Given the description of an element on the screen output the (x, y) to click on. 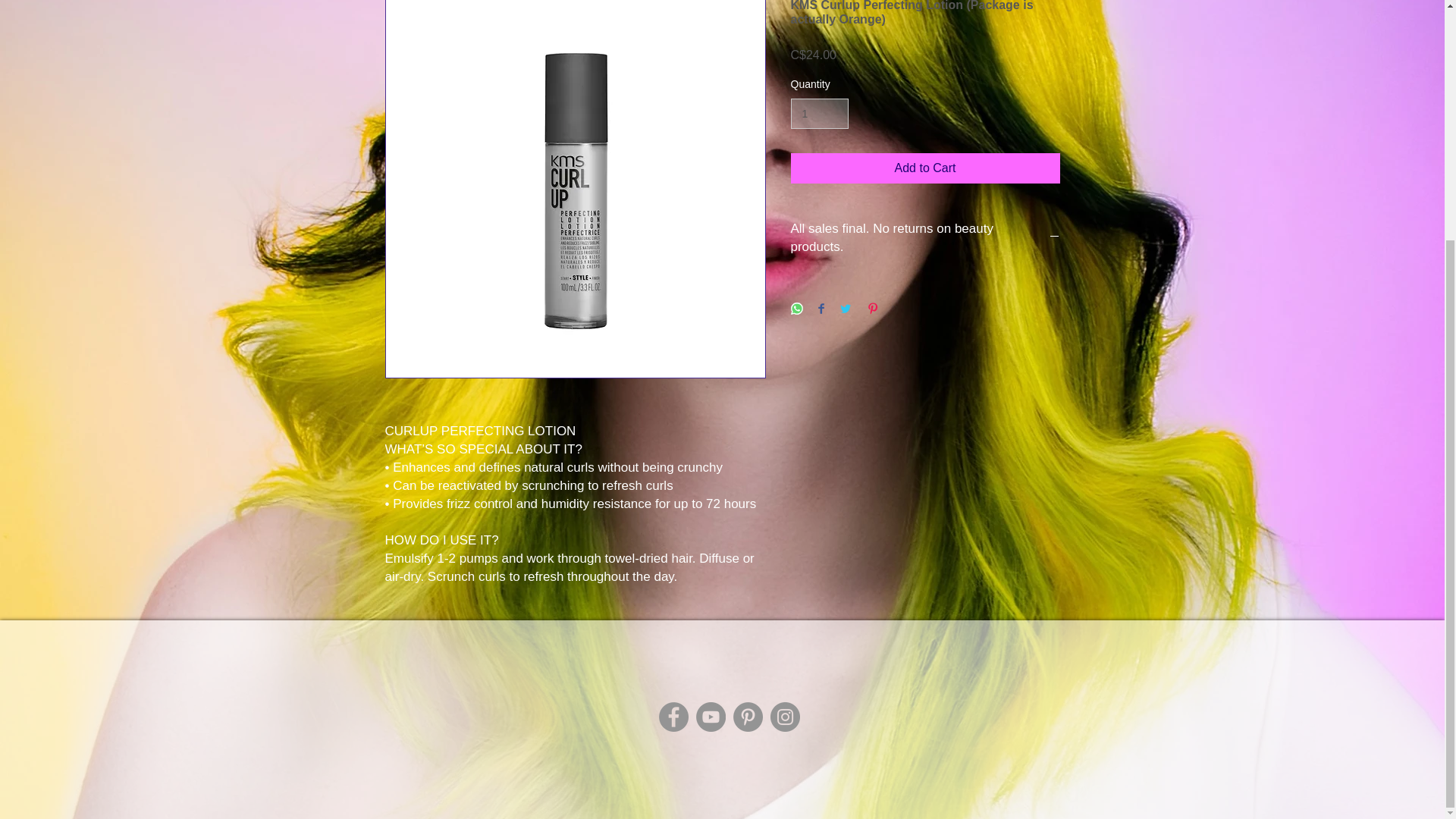
Add to Cart (924, 168)
1 (818, 113)
All sales final. No returns on beauty products. (924, 238)
